Given the description of an element on the screen output the (x, y) to click on. 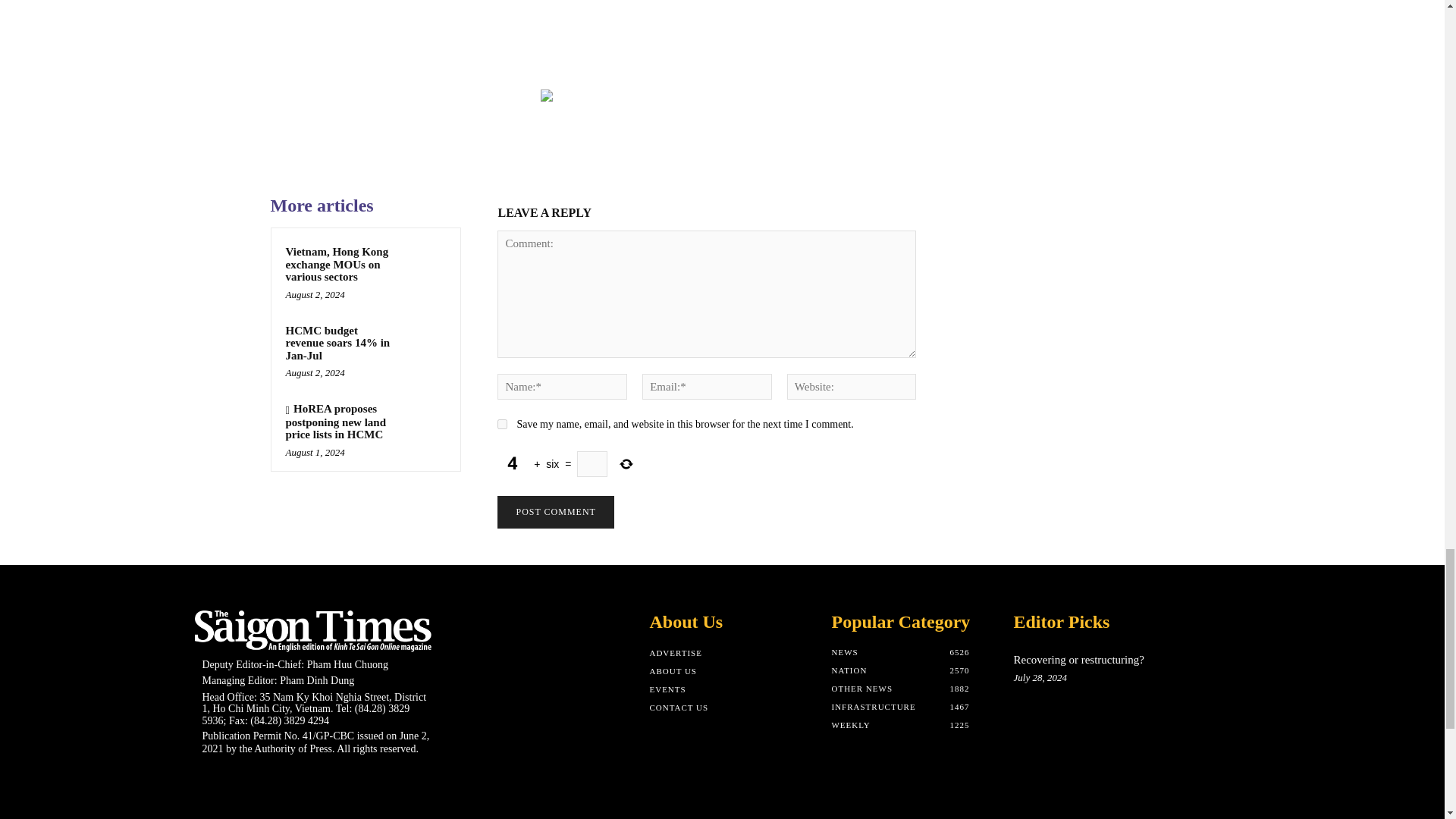
Post Comment (554, 512)
yes (501, 424)
